Given the description of an element on the screen output the (x, y) to click on. 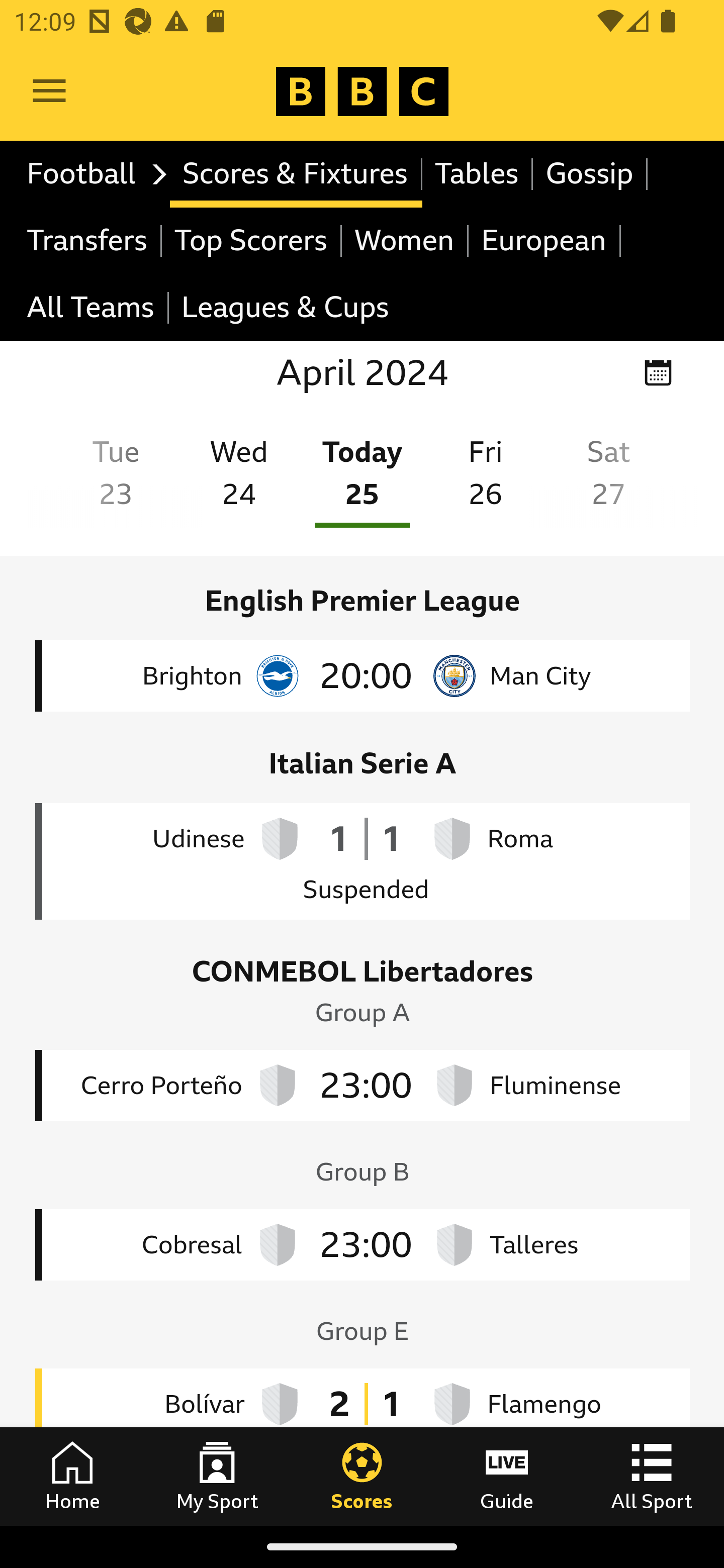
Open Menu (49, 91)
Football (91, 173)
Scores & Fixtures (295, 173)
Tables (477, 173)
Gossip (590, 173)
Transfers (88, 240)
Top Scorers (251, 240)
Women (405, 240)
European (544, 240)
All Teams (91, 308)
Leagues & Cups (284, 308)
Home (72, 1475)
My Sport (216, 1475)
Guide (506, 1475)
All Sport (651, 1475)
